Given the description of an element on the screen output the (x, y) to click on. 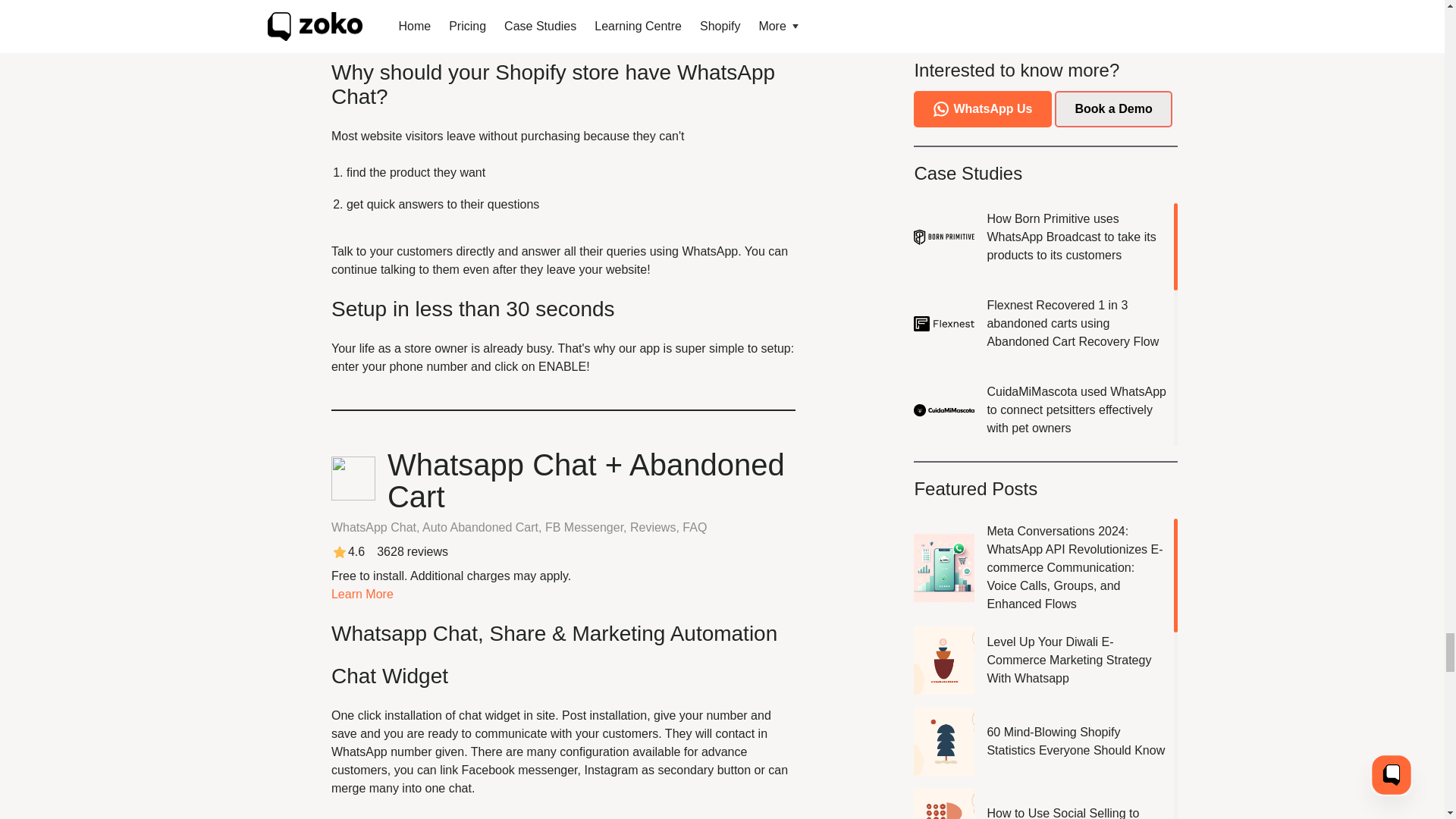
Learn More (362, 594)
